Given the description of an element on the screen output the (x, y) to click on. 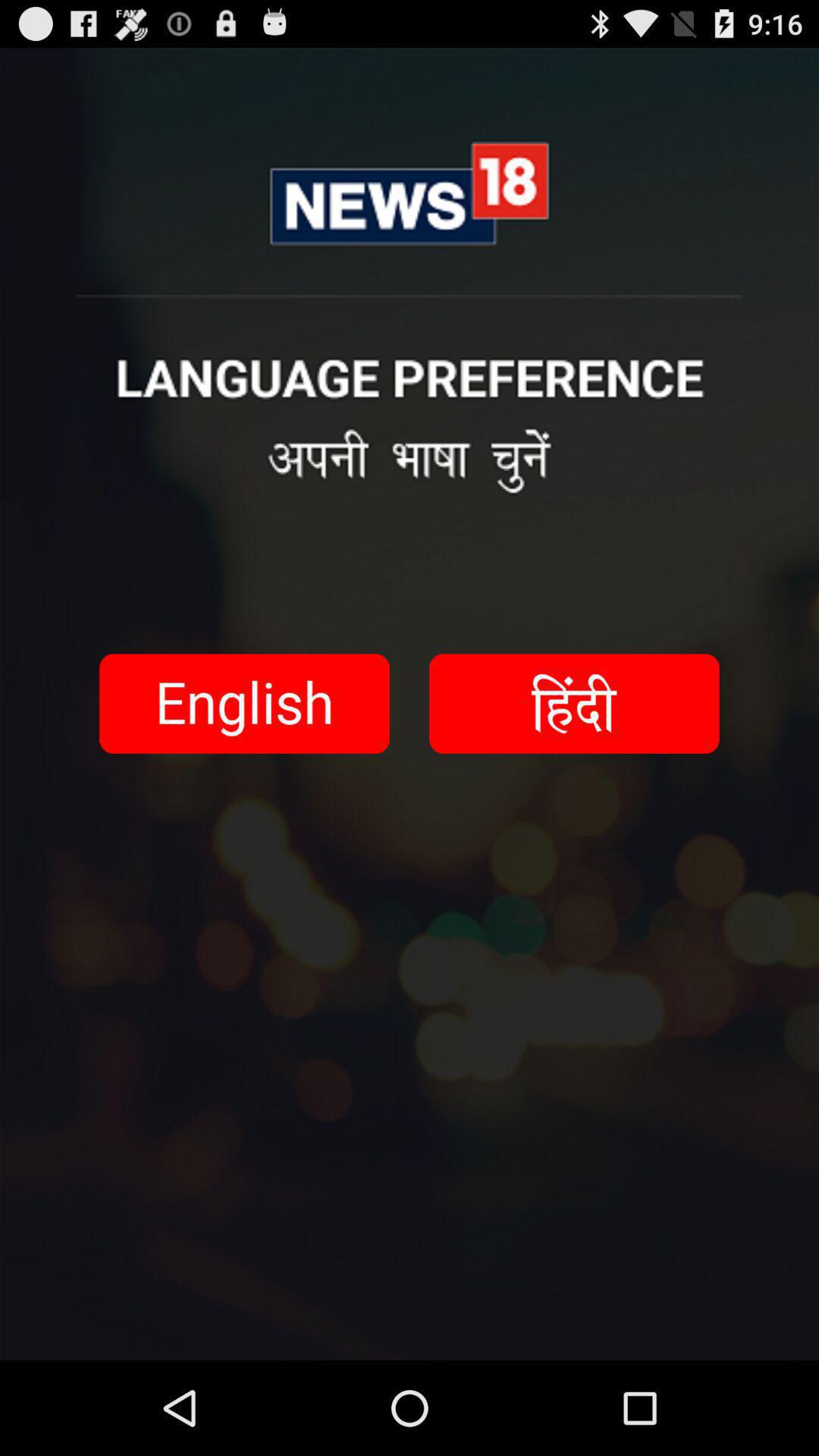
english languages (244, 703)
